Given the description of an element on the screen output the (x, y) to click on. 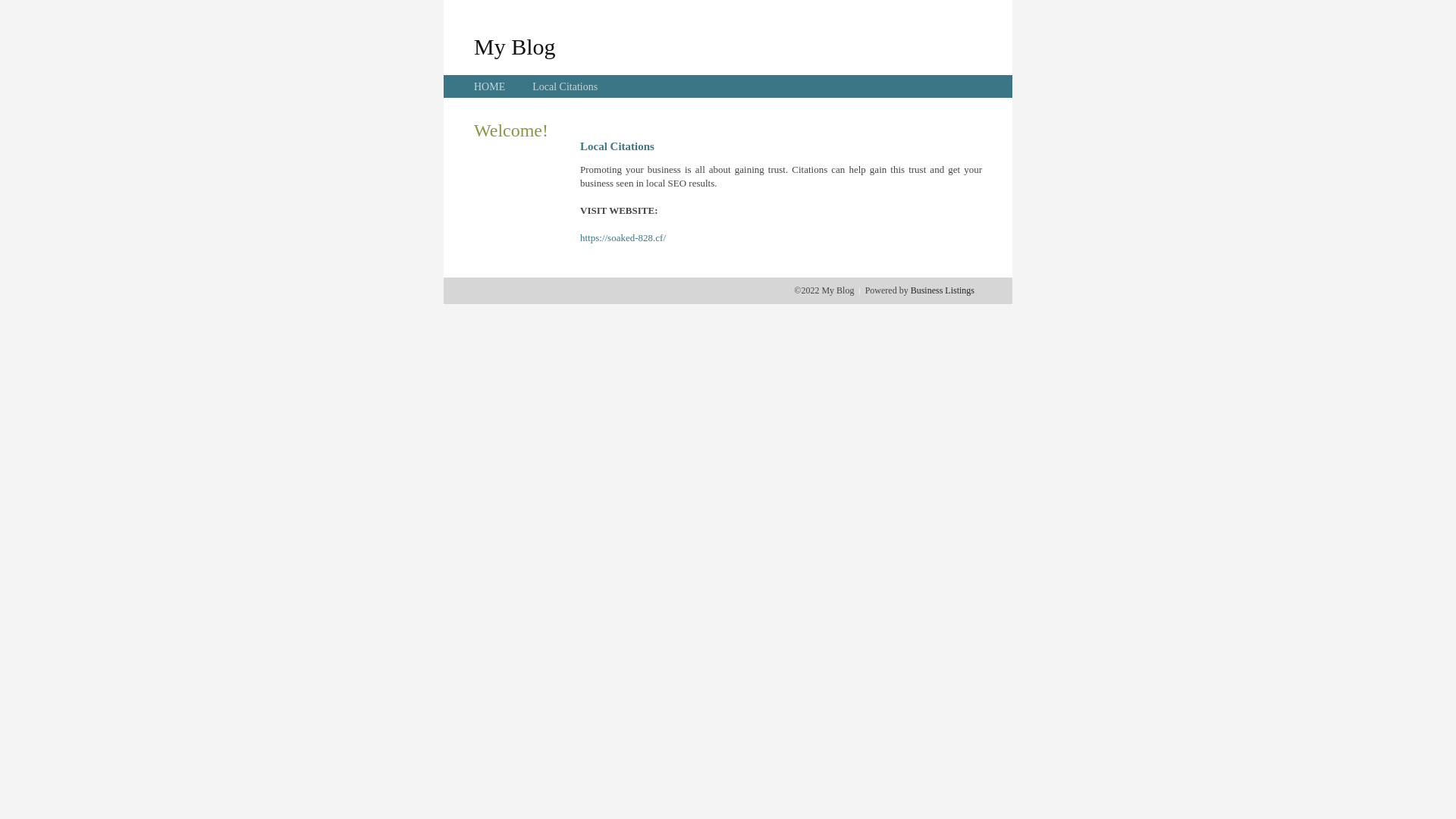
Business Listings Element type: text (942, 290)
HOME Element type: text (489, 86)
https://soaked-828.cf/ Element type: text (622, 237)
Local Citations Element type: text (564, 86)
My Blog Element type: text (514, 46)
